Given the description of an element on the screen output the (x, y) to click on. 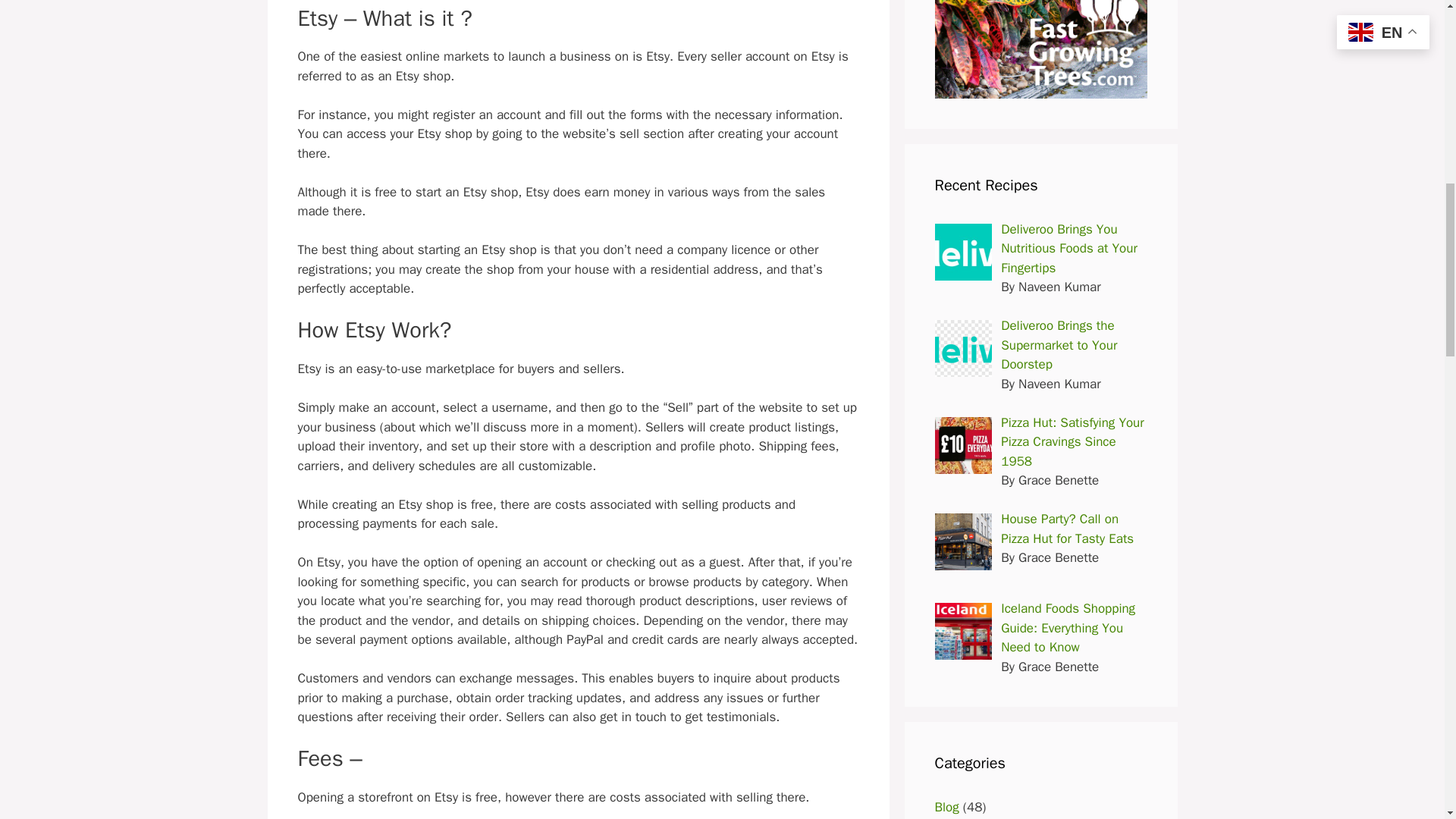
Blog (946, 806)
Deliveroo Brings You Nutritious Foods at Your Fingertips (1069, 248)
House Party? Call on Pizza Hut for Tasty Eats (1067, 529)
Deliveroo Brings the Supermarket to Your Doorstep (1058, 344)
Pizza Hut: Satisfying Your Pizza Cravings Since 1958 (1071, 441)
Iceland Foods Shopping Guide: Everything You Need to Know (1068, 627)
